Given the description of an element on the screen output the (x, y) to click on. 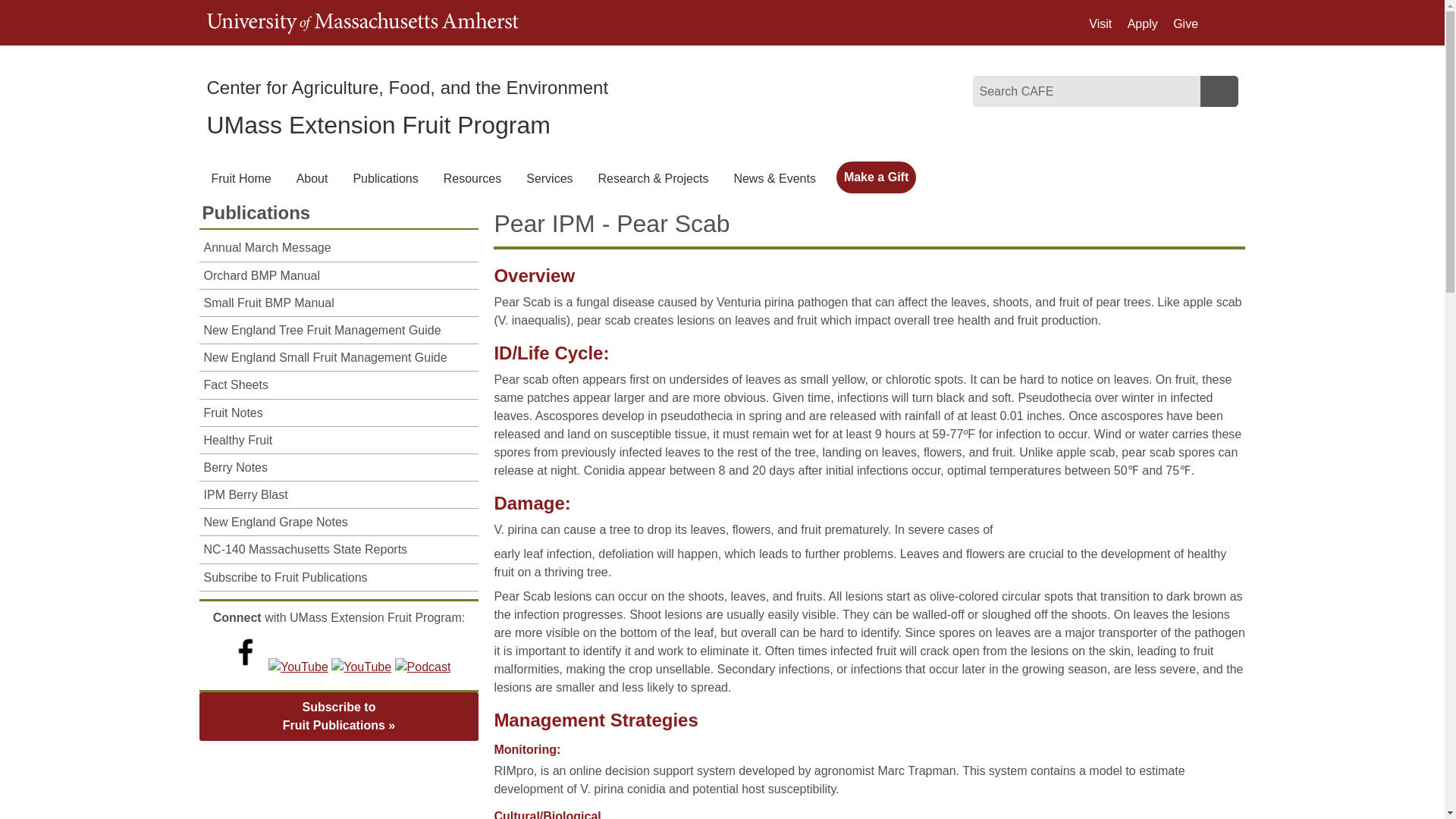
Search (1218, 91)
Publications (384, 178)
Visit (1100, 24)
UMass Amherst (362, 22)
The University of Massachusetts Amherst (362, 22)
Center for Agriculture, Food, and the Environment (407, 86)
About (311, 178)
Resources (471, 178)
Search (1218, 91)
Apply (1141, 24)
Fruit Home (240, 178)
Give (1185, 24)
Home (407, 86)
UMass Extension Fruit Program (378, 124)
Fruit Home (378, 124)
